Given the description of an element on the screen output the (x, y) to click on. 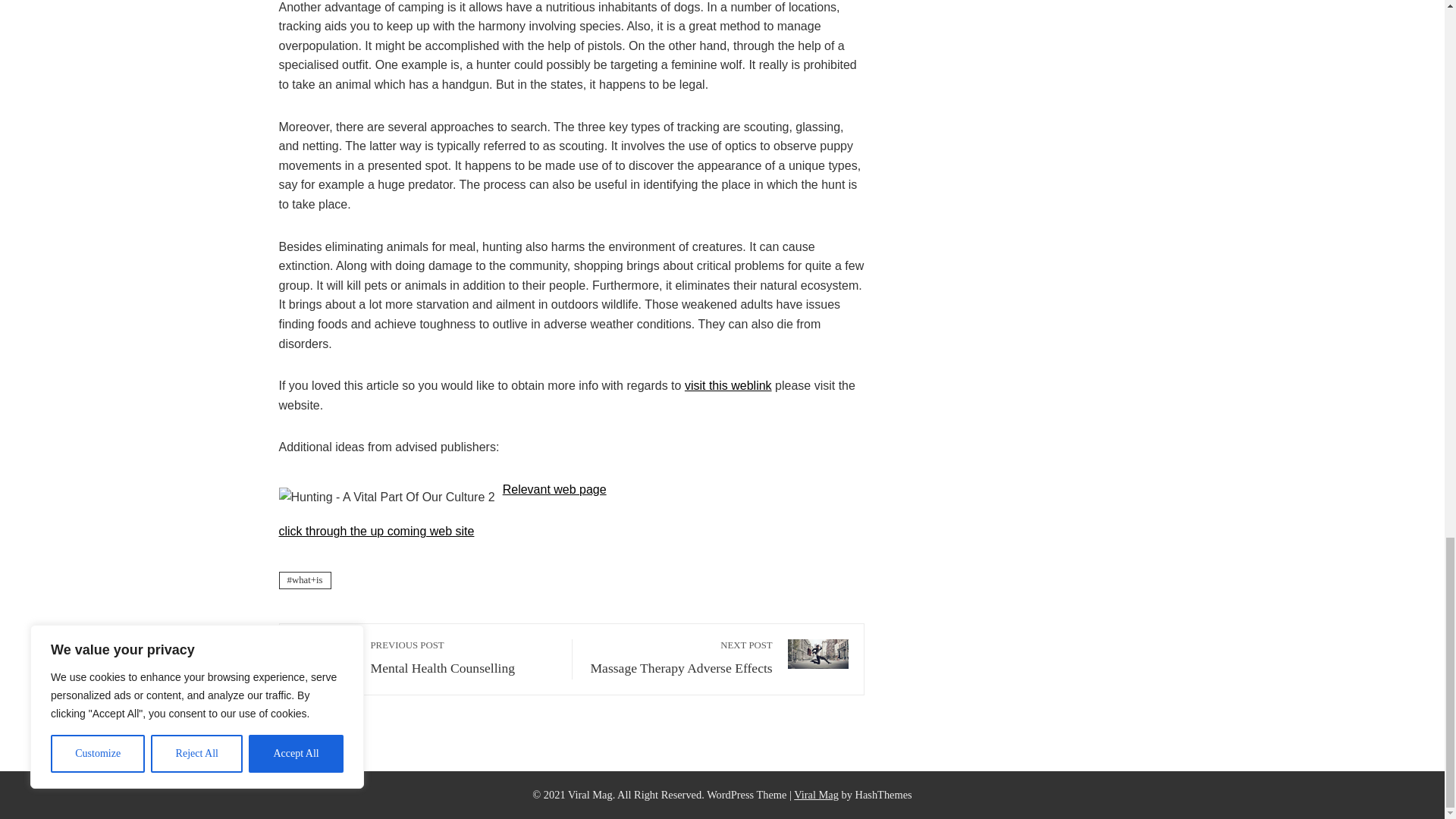
Relevant web page (462, 657)
visit this weblink (554, 489)
click through the up coming web site (727, 385)
Download Viral News (680, 657)
